Given the description of an element on the screen output the (x, y) to click on. 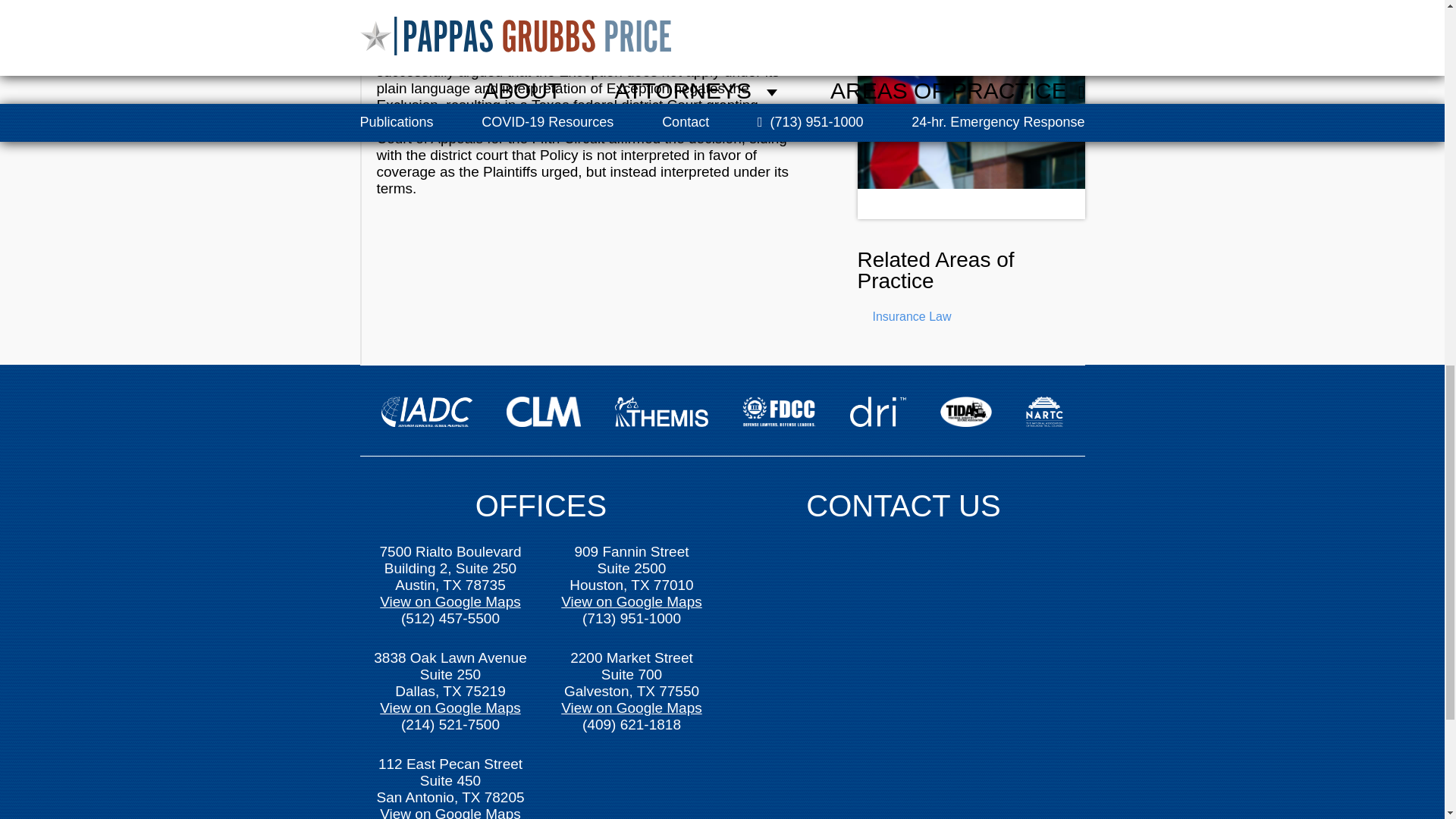
Form 0 (903, 669)
